Given the description of an element on the screen output the (x, y) to click on. 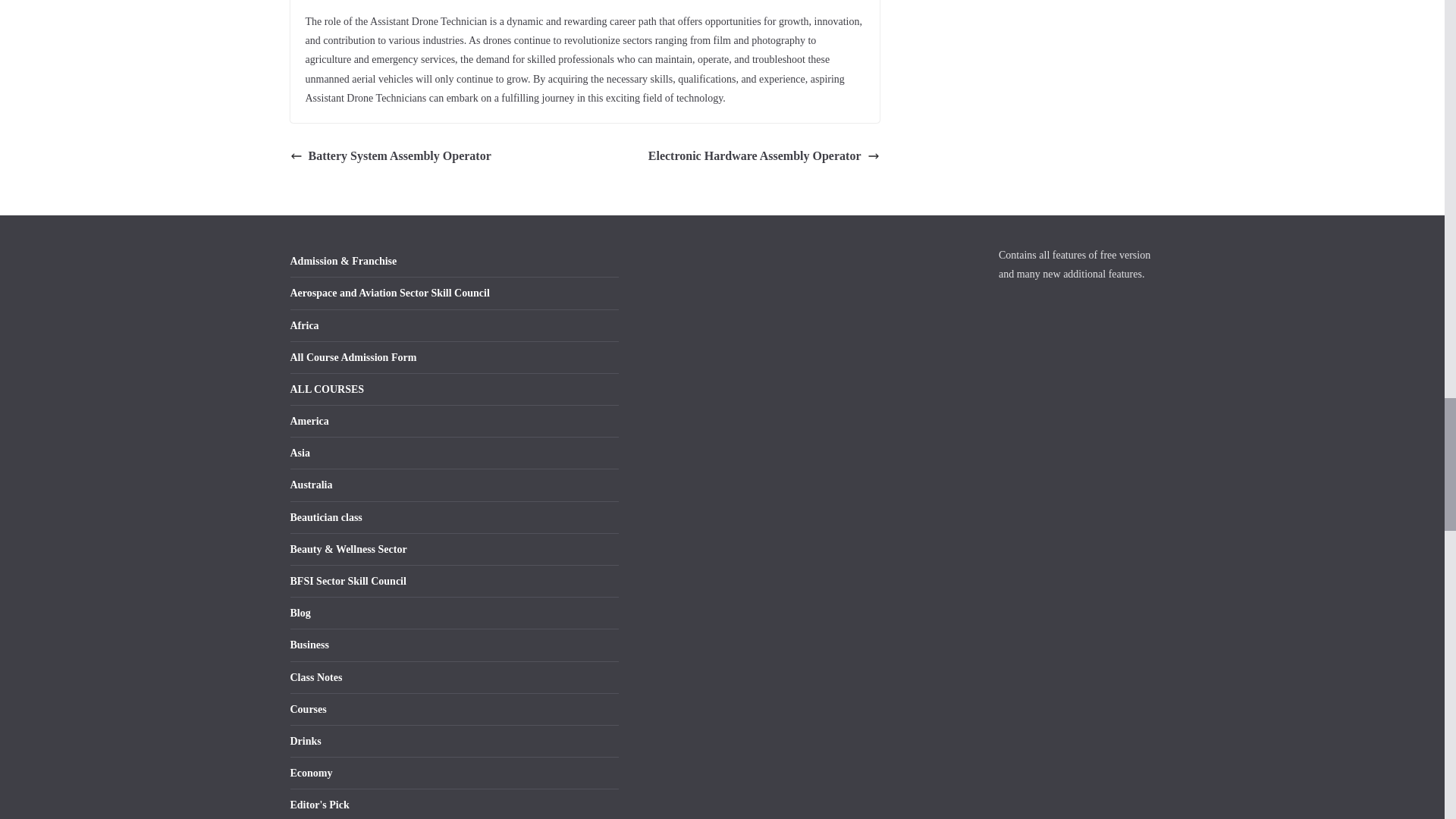
Electronic Hardware Assembly Operator (763, 156)
All Course Admission Form (352, 357)
America (309, 420)
Asia (298, 452)
ALL COURSES (326, 389)
Aerospace and Aviation Sector Skill Council (389, 292)
Battery System Assembly Operator (389, 156)
BFSI Sector Skill Council (347, 581)
Australia (310, 484)
Beautician class (325, 517)
Africa (303, 325)
Blog (299, 613)
